Given the description of an element on the screen output the (x, y) to click on. 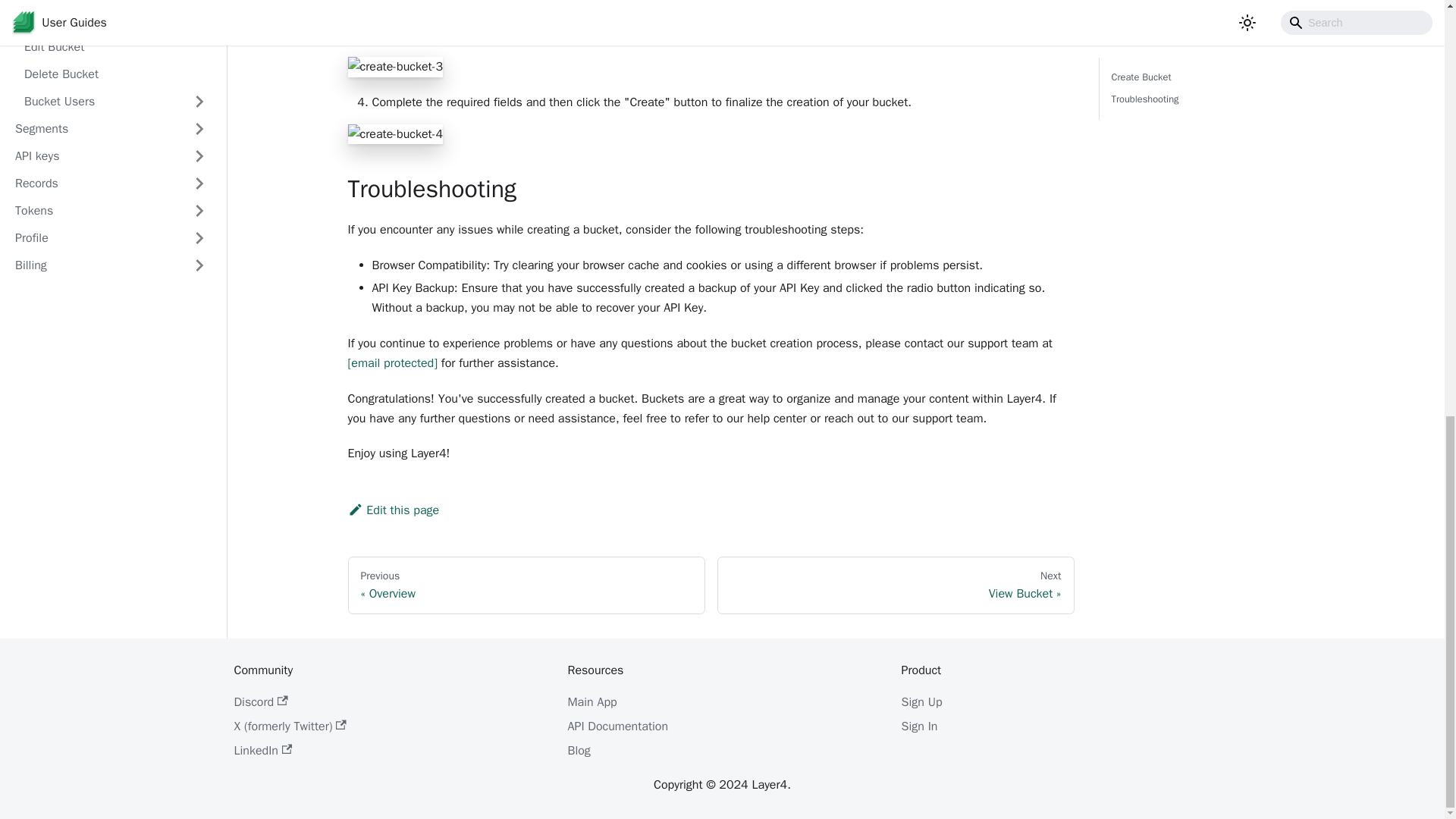
Edit this page (393, 509)
Discord (525, 585)
